Given the description of an element on the screen output the (x, y) to click on. 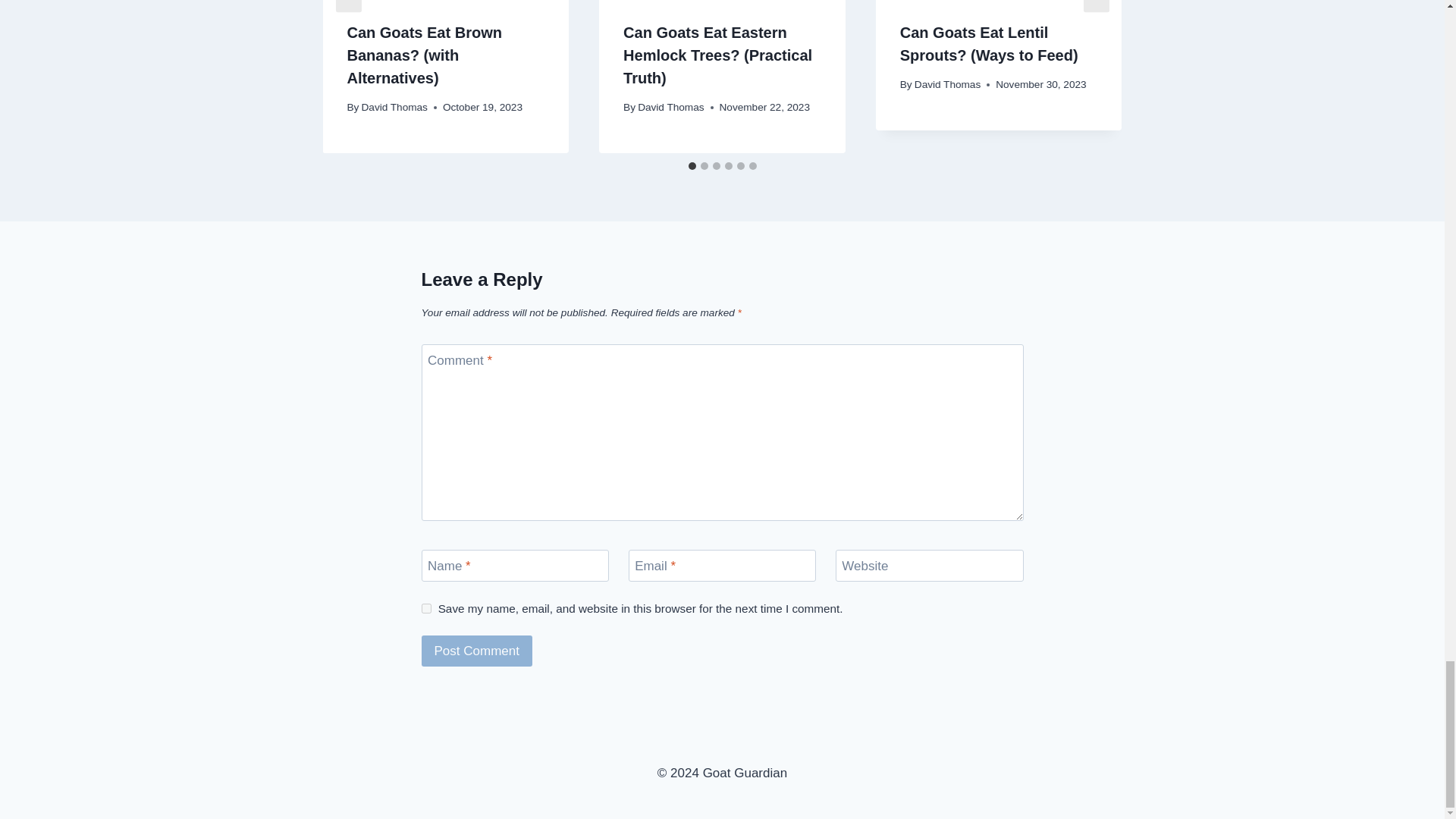
Post Comment (477, 650)
yes (426, 608)
